Given the description of an element on the screen output the (x, y) to click on. 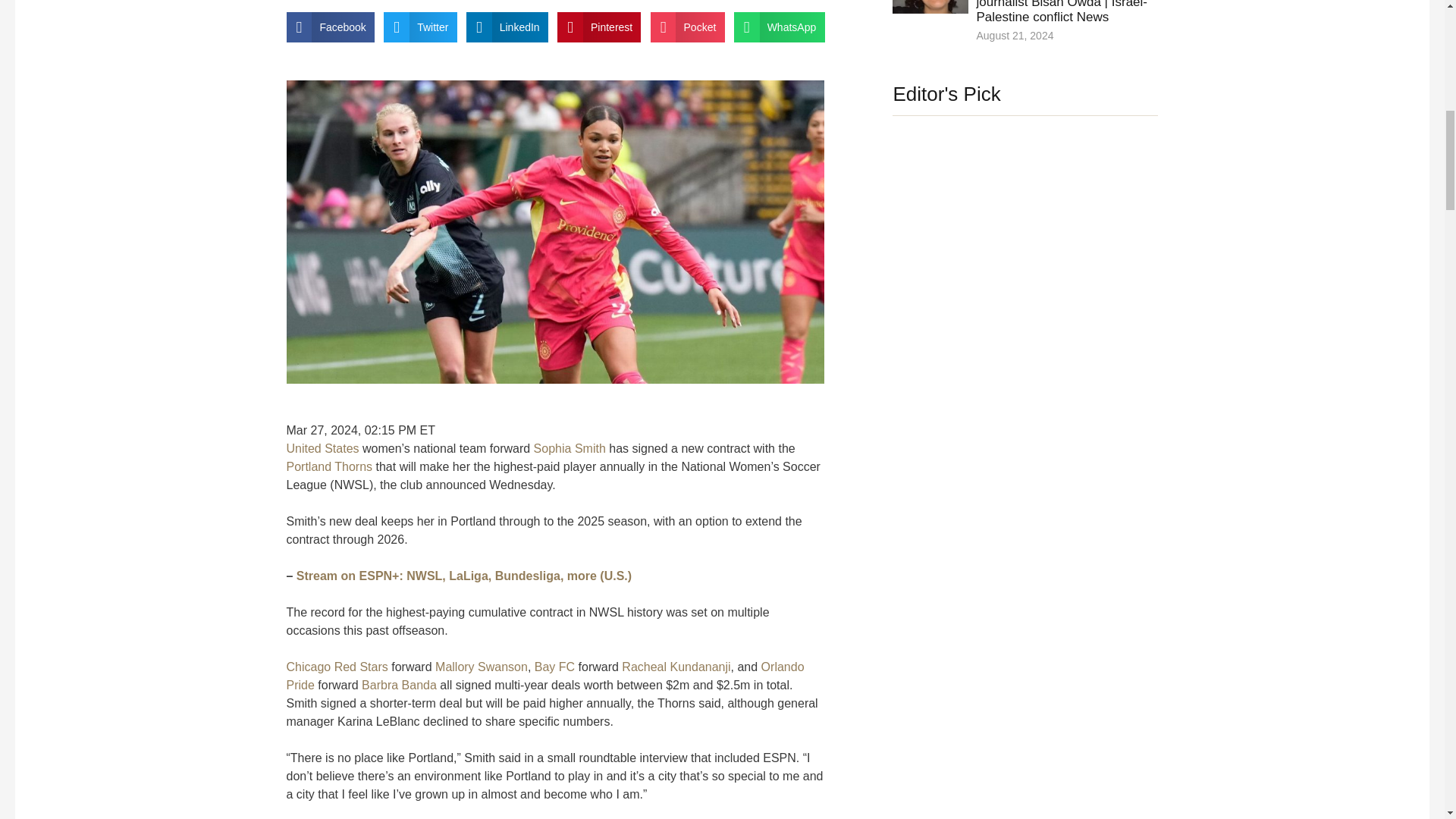
Sophia Smith (569, 448)
Portland Thorns (329, 466)
United States (322, 448)
